Given the description of an element on the screen output the (x, y) to click on. 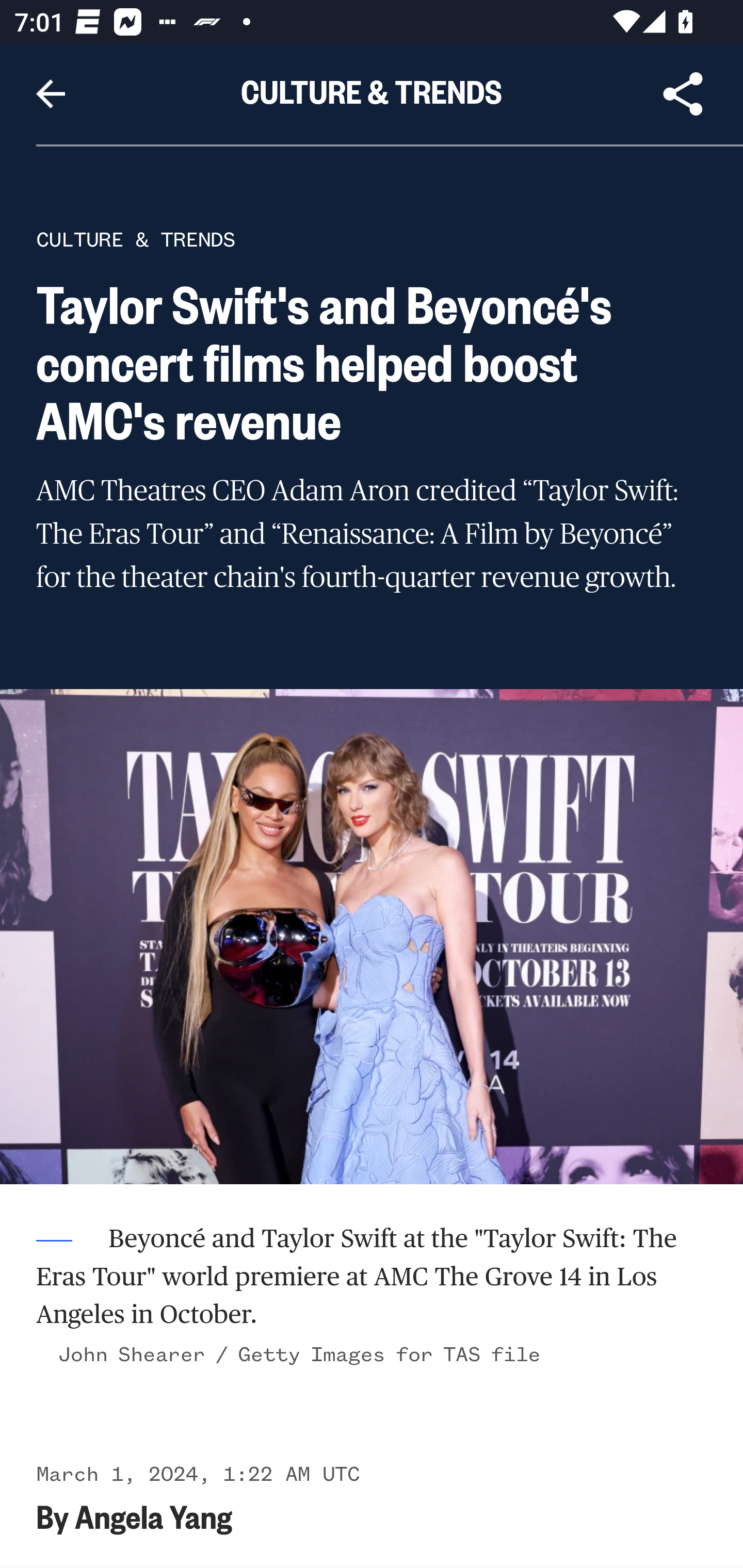
Navigate up (50, 93)
Share Article, button (683, 94)
CULTURE & TRENDS (136, 239)
